Given the description of an element on the screen output the (x, y) to click on. 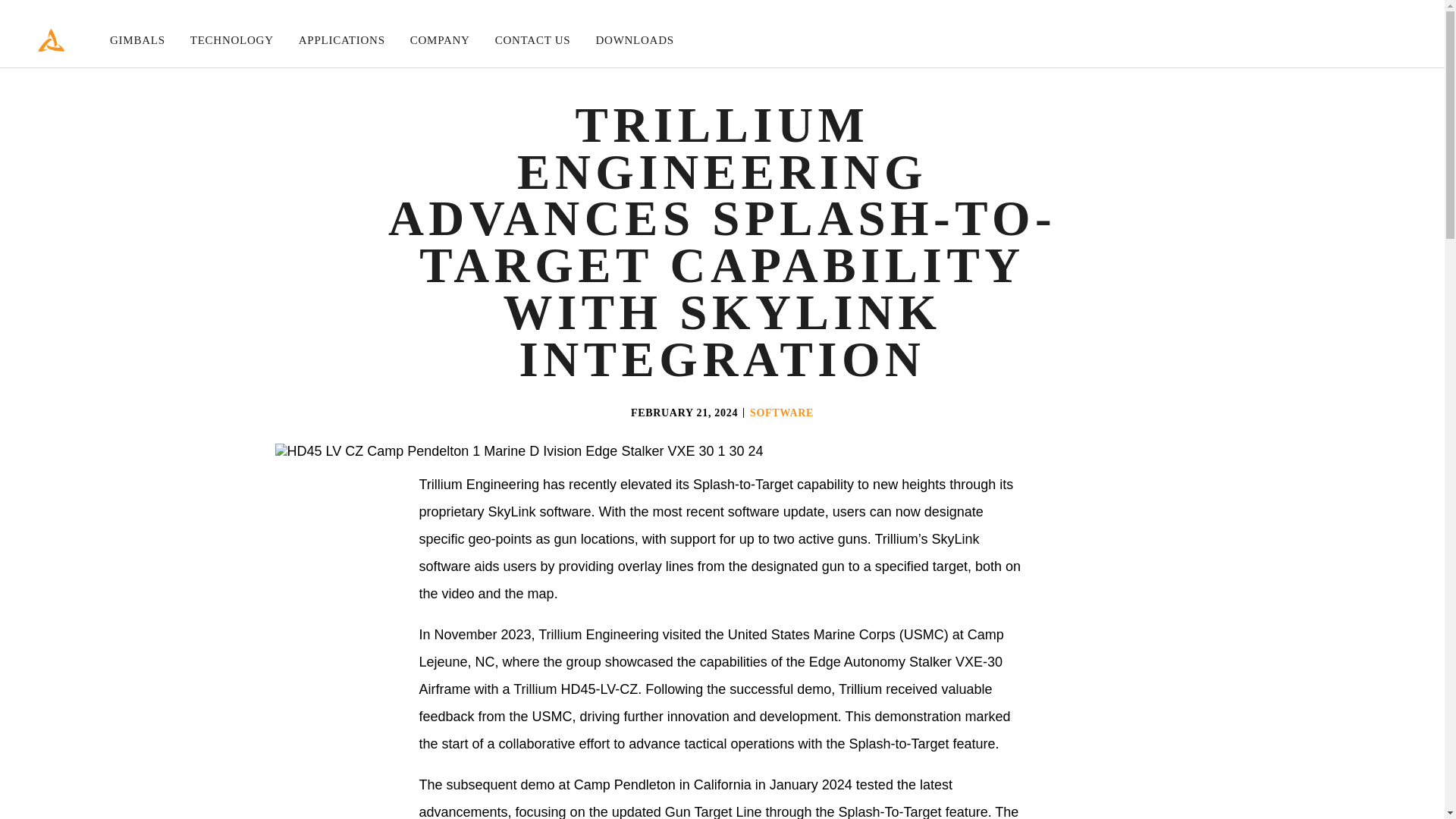
APPLICATIONS (341, 40)
GIMBALS (137, 40)
SOFTWARE (781, 413)
DOWNLOADS (633, 40)
TECHNOLOGY (231, 40)
CONTACT US (532, 40)
COMPANY (440, 40)
